Given the description of an element on the screen output the (x, y) to click on. 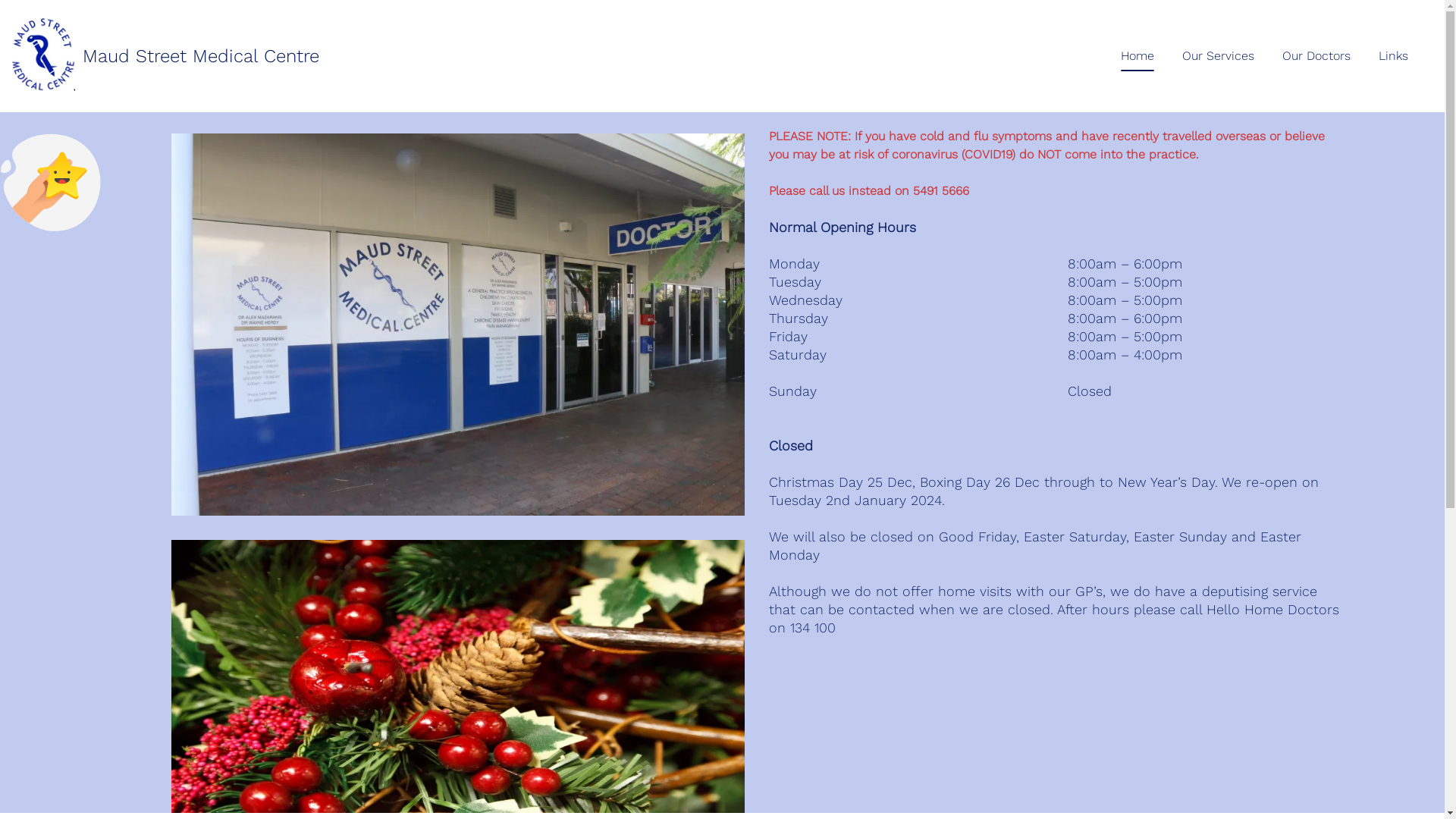
Maud Street Medical Centre Element type: text (165, 56)
Links Element type: text (1393, 55)
Home Element type: text (1137, 55)
Our Services Element type: text (1218, 55)
Our Doctors Element type: text (1316, 55)
